Given the description of an element on the screen output the (x, y) to click on. 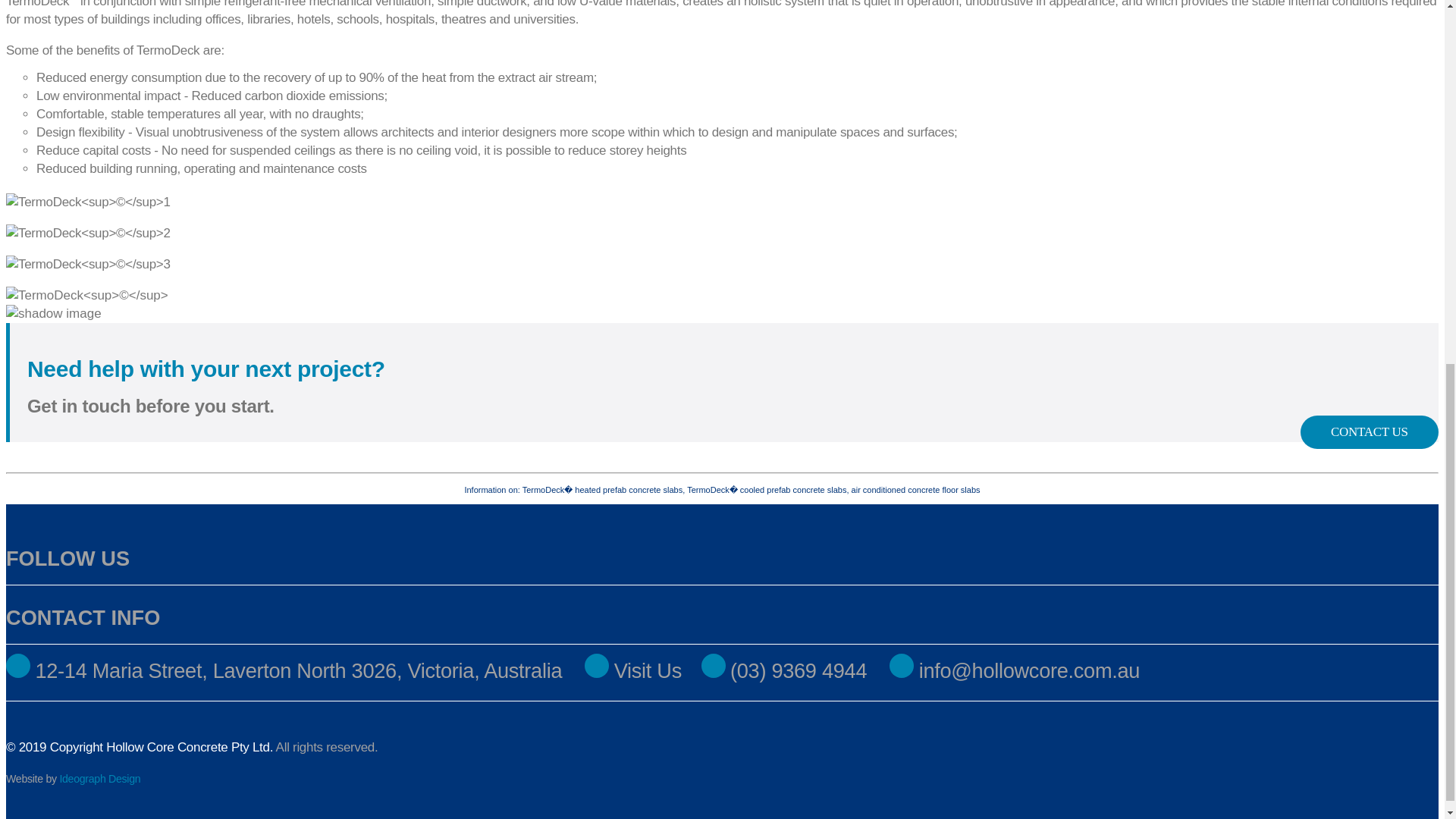
Email Us (1014, 673)
Location Map (17, 673)
Ideograph Design (99, 778)
Visit Us (633, 673)
Call Us (784, 673)
Location Map (633, 673)
